Given the description of an element on the screen output the (x, y) to click on. 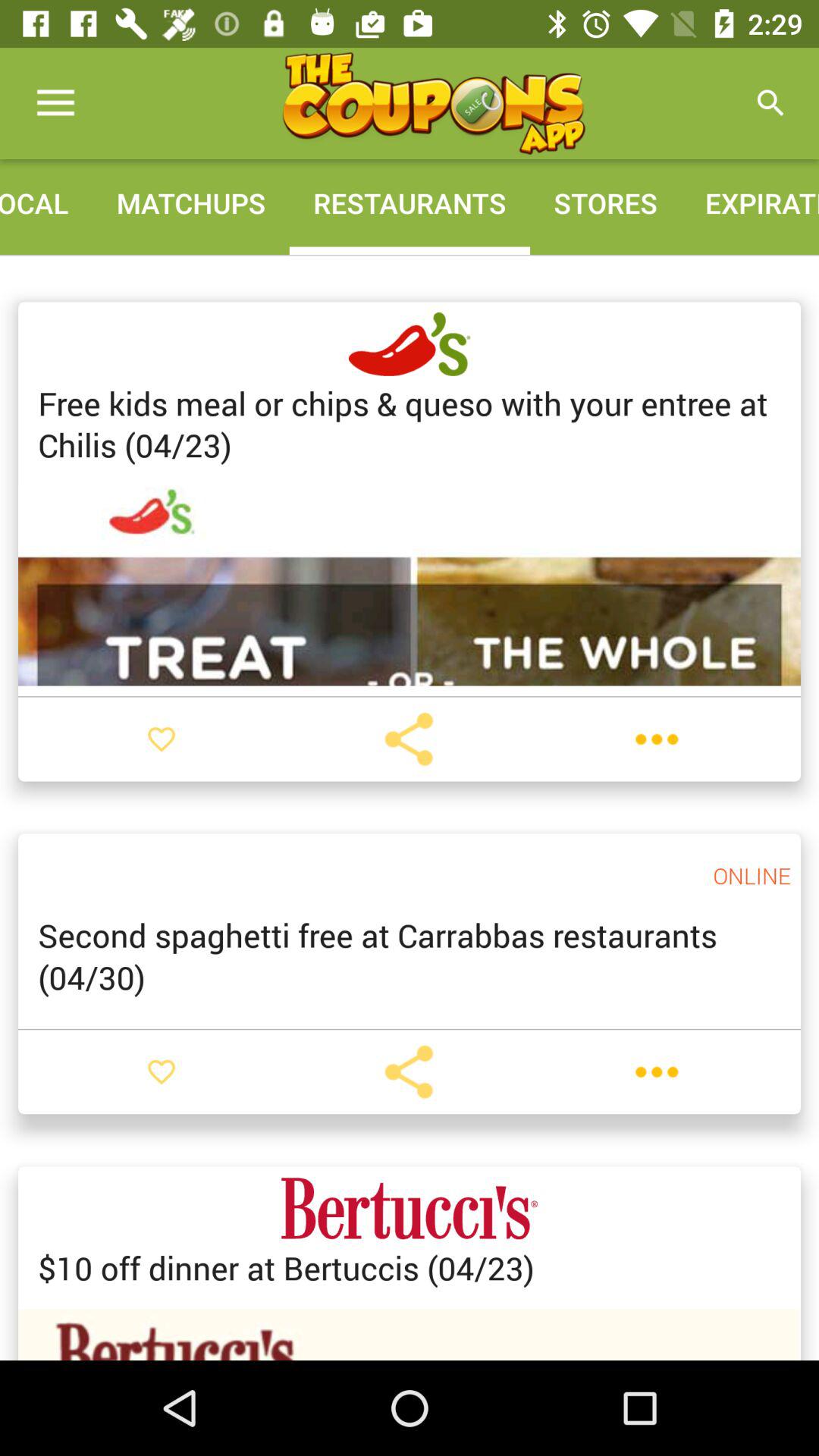
share coupon (408, 1071)
